Given the description of an element on the screen output the (x, y) to click on. 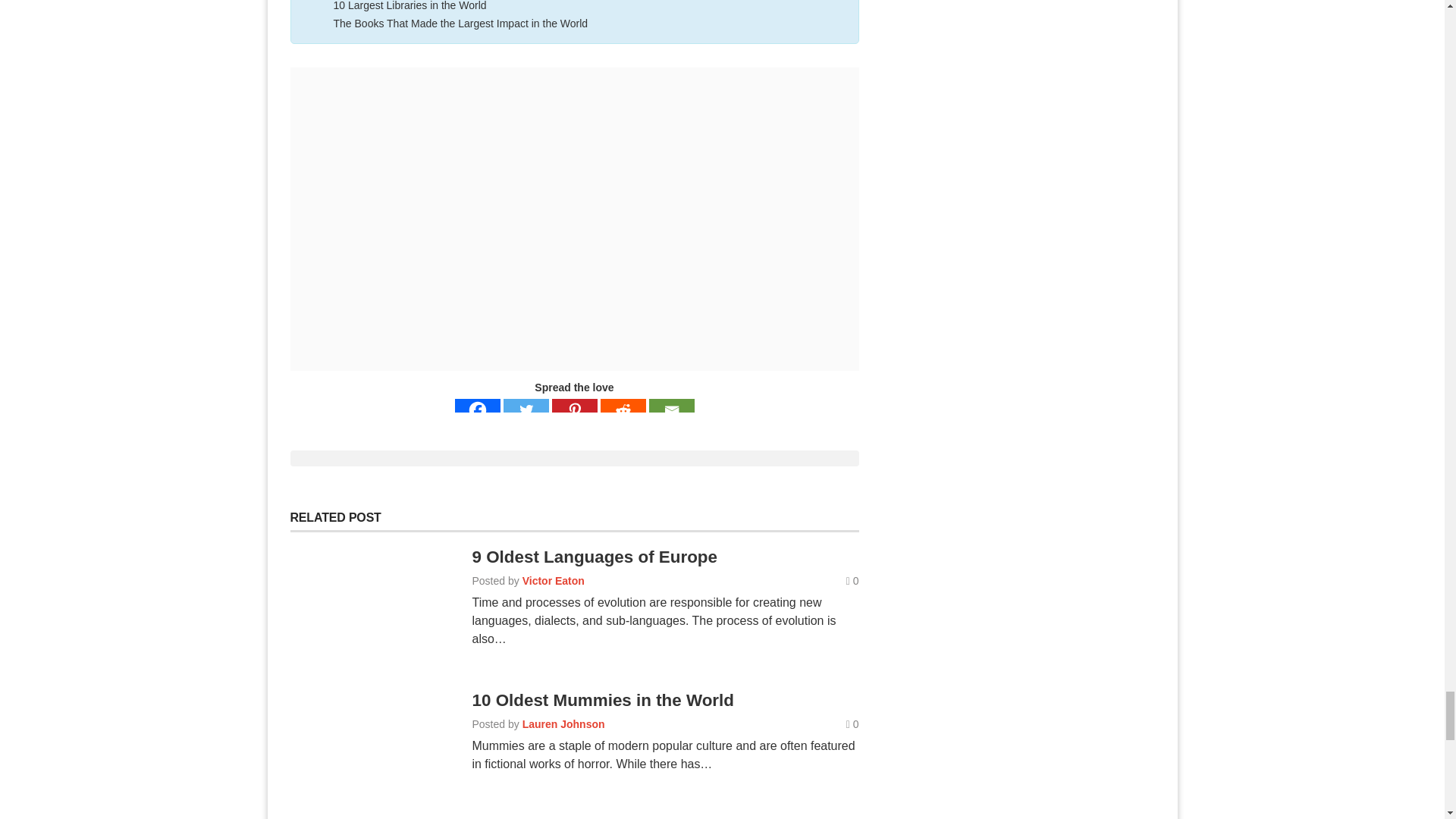
Twitter (525, 409)
Pinterest (573, 409)
Reddit (622, 409)
Facebook (477, 409)
Posts by Lauren Johnson (563, 724)
Email (671, 409)
Posts by Victor Eaton (553, 580)
